Given the description of an element on the screen output the (x, y) to click on. 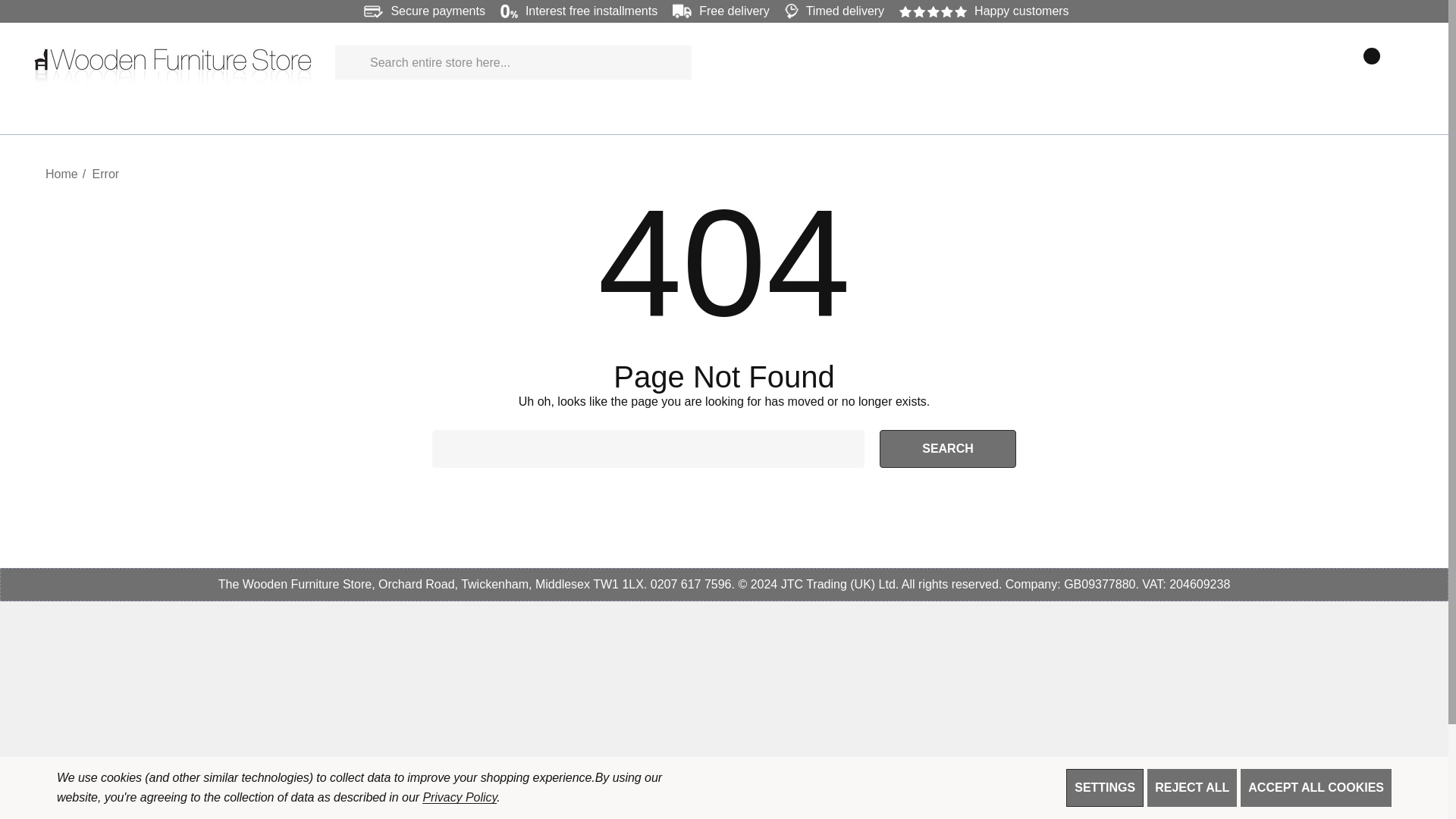
YOUR BASKET YOUR BASKET (1362, 62)
LIVE HELP LIVE HELP (1396, 62)
Wooden Furniture Store (173, 62)
ACCOUNT ACCOUNT (1330, 62)
Search (947, 448)
ACCOUNT ACCOUNT (1328, 62)
YOUR BASKET YOUR BASKET (1364, 62)
LIVE HELP LIVE HELP (1398, 62)
